Given the description of an element on the screen output the (x, y) to click on. 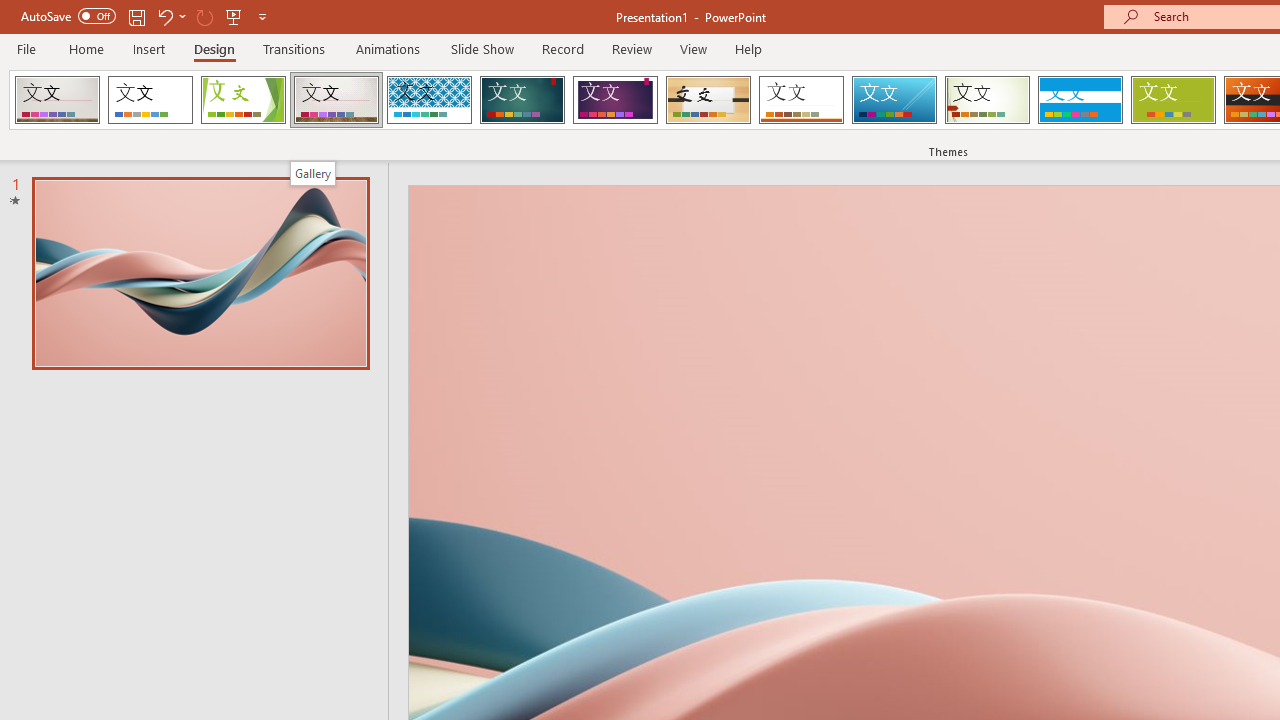
Organic (708, 100)
Slice (893, 100)
Ion Boardroom (615, 100)
